Given the description of an element on the screen output the (x, y) to click on. 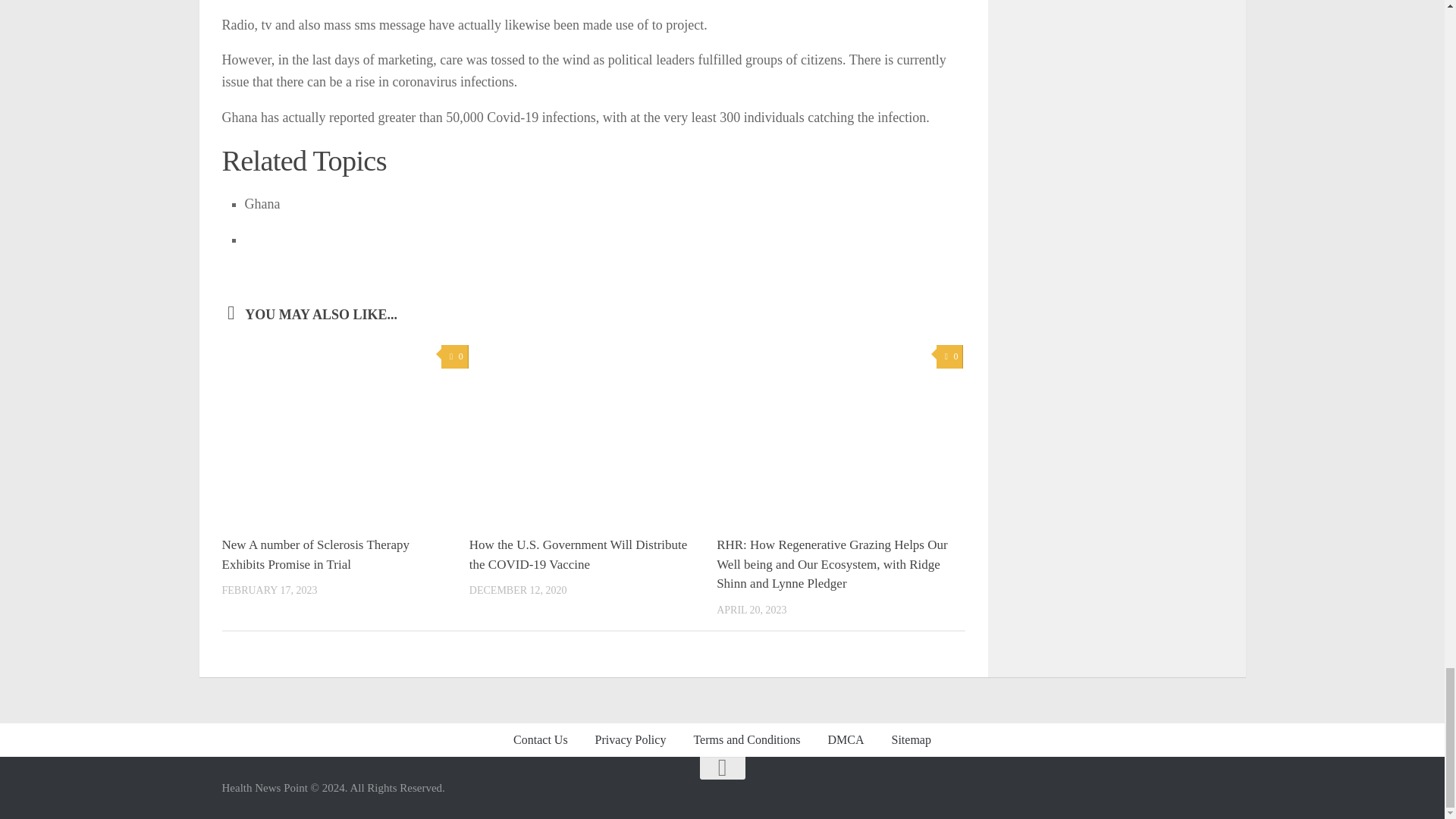
DMCA (845, 739)
How the U.S. Government Will Distribute the COVID-19 Vaccine (577, 554)
Contact Us (539, 739)
0 (454, 356)
0 (949, 356)
New A number of Sclerosis Therapy Exhibits Promise in Trial (315, 554)
Terms and Conditions (746, 739)
Privacy Policy (629, 739)
